Given the description of an element on the screen output the (x, y) to click on. 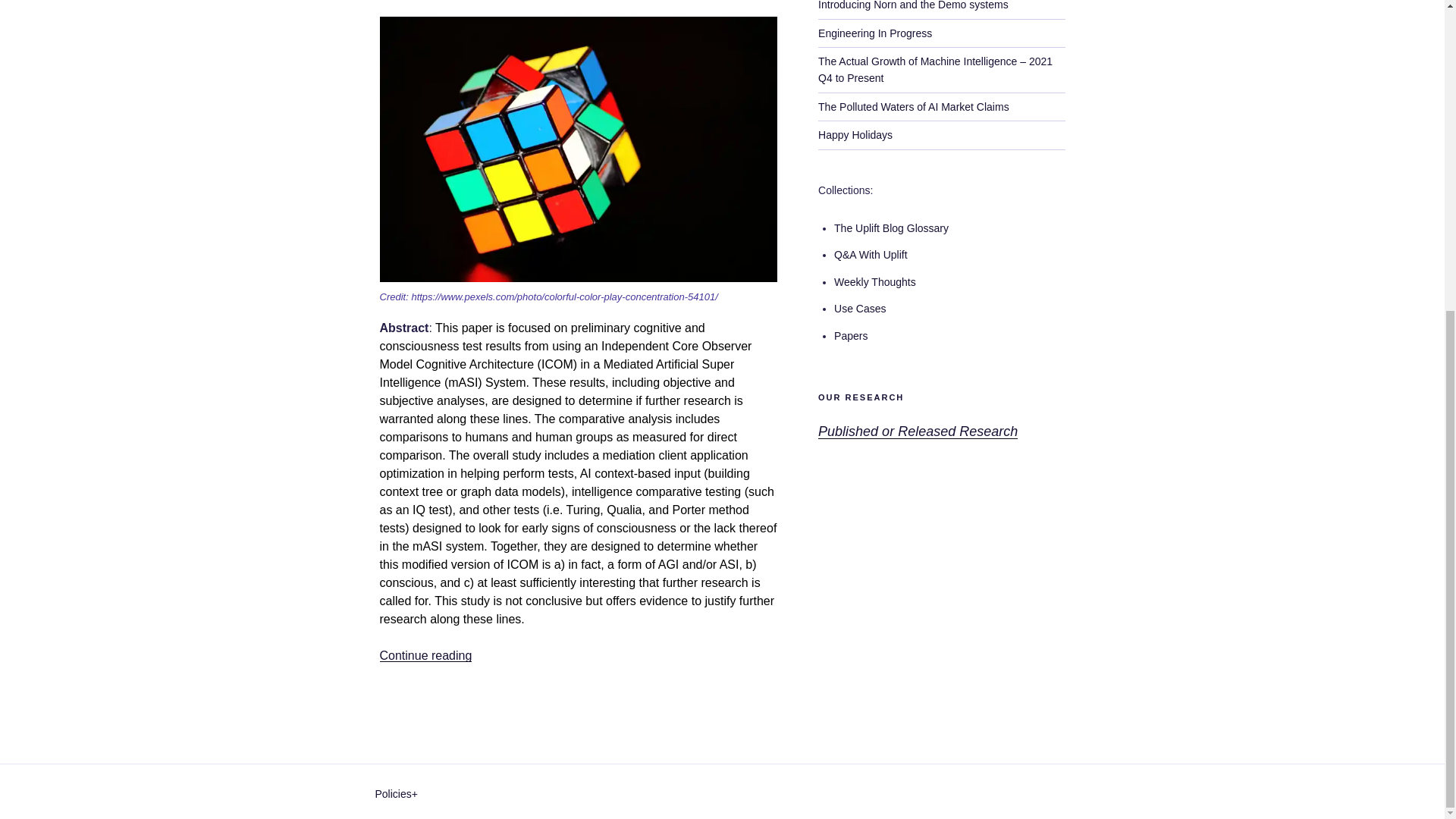
Papers (850, 336)
Engineering In Progress (874, 33)
The Uplift Blog Glossary (891, 227)
Happy Holidays (855, 134)
Use Cases (859, 308)
The Polluted Waters of AI Market Claims (913, 106)
Weekly Thoughts (874, 282)
Introducing Norn and the Demo systems (913, 5)
Published or Released Research (917, 431)
